Given the description of an element on the screen output the (x, y) to click on. 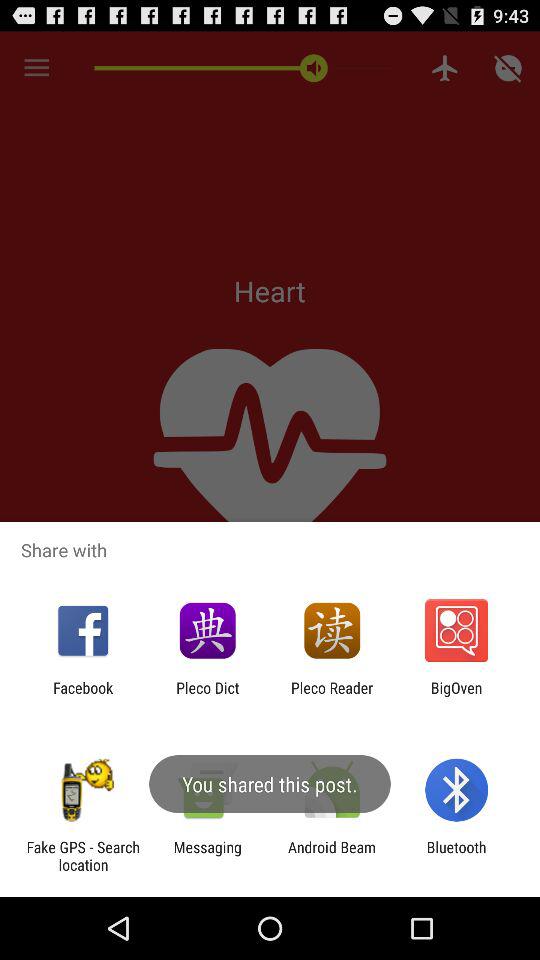
press app to the left of bigoven app (331, 696)
